Given the description of an element on the screen output the (x, y) to click on. 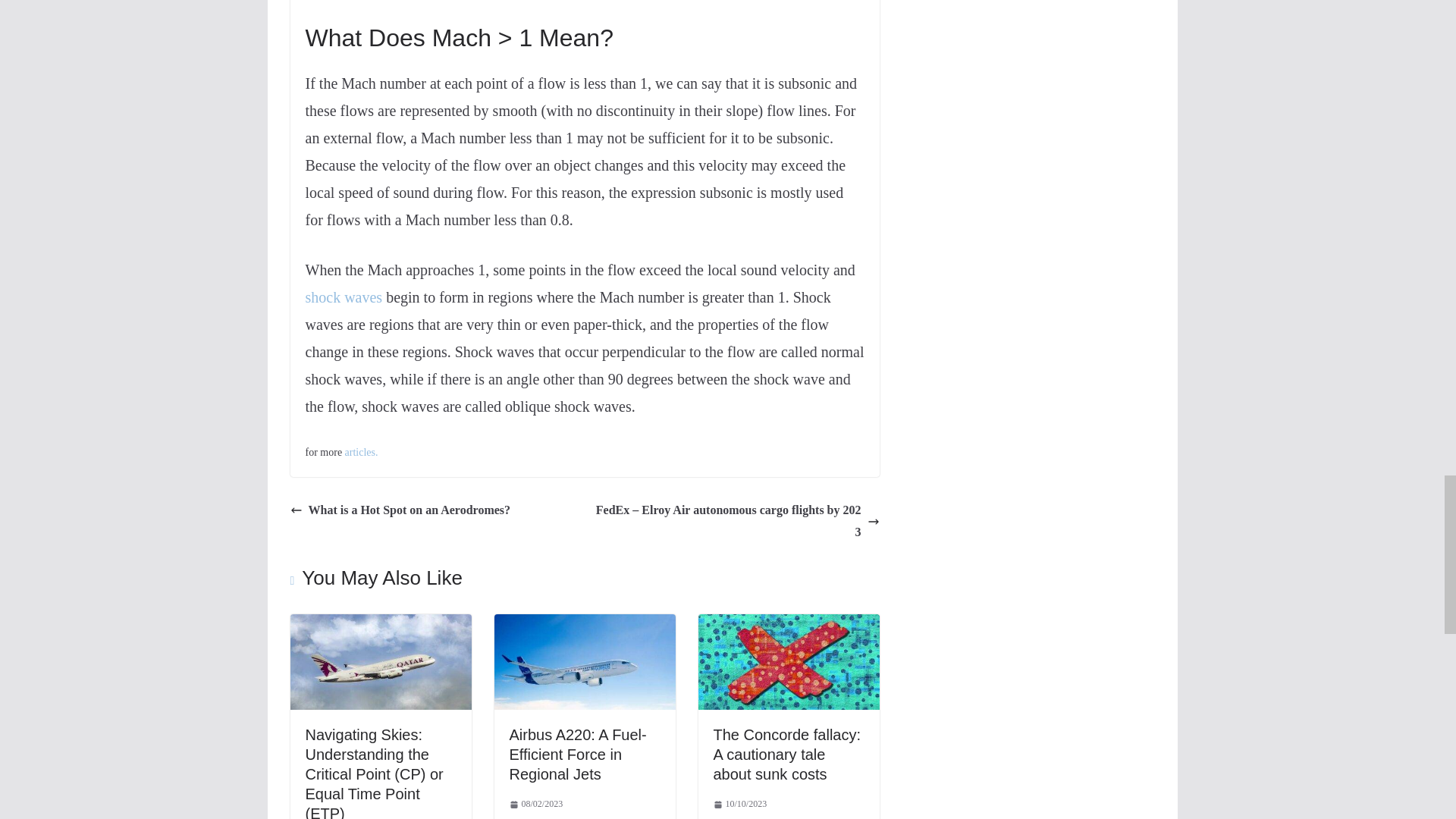
Airbus A220: A Fuel-Efficient Force in Regional Jets (577, 754)
The Concorde fallacy: A cautionary tale about sunk costs (786, 754)
The Concorde fallacy: A cautionary tale about sunk costs (788, 624)
08:35 (536, 804)
What is a Hot Spot on an Aerodromes? (400, 510)
Airbus A220: A Fuel-Efficient Force in Regional Jets (585, 624)
shock waves (342, 297)
articles. (361, 451)
12:18 (740, 804)
Airbus A220: A Fuel-Efficient Force in Regional Jets (577, 754)
The Concorde fallacy: A cautionary tale about sunk costs (786, 754)
